Given the description of an element on the screen output the (x, y) to click on. 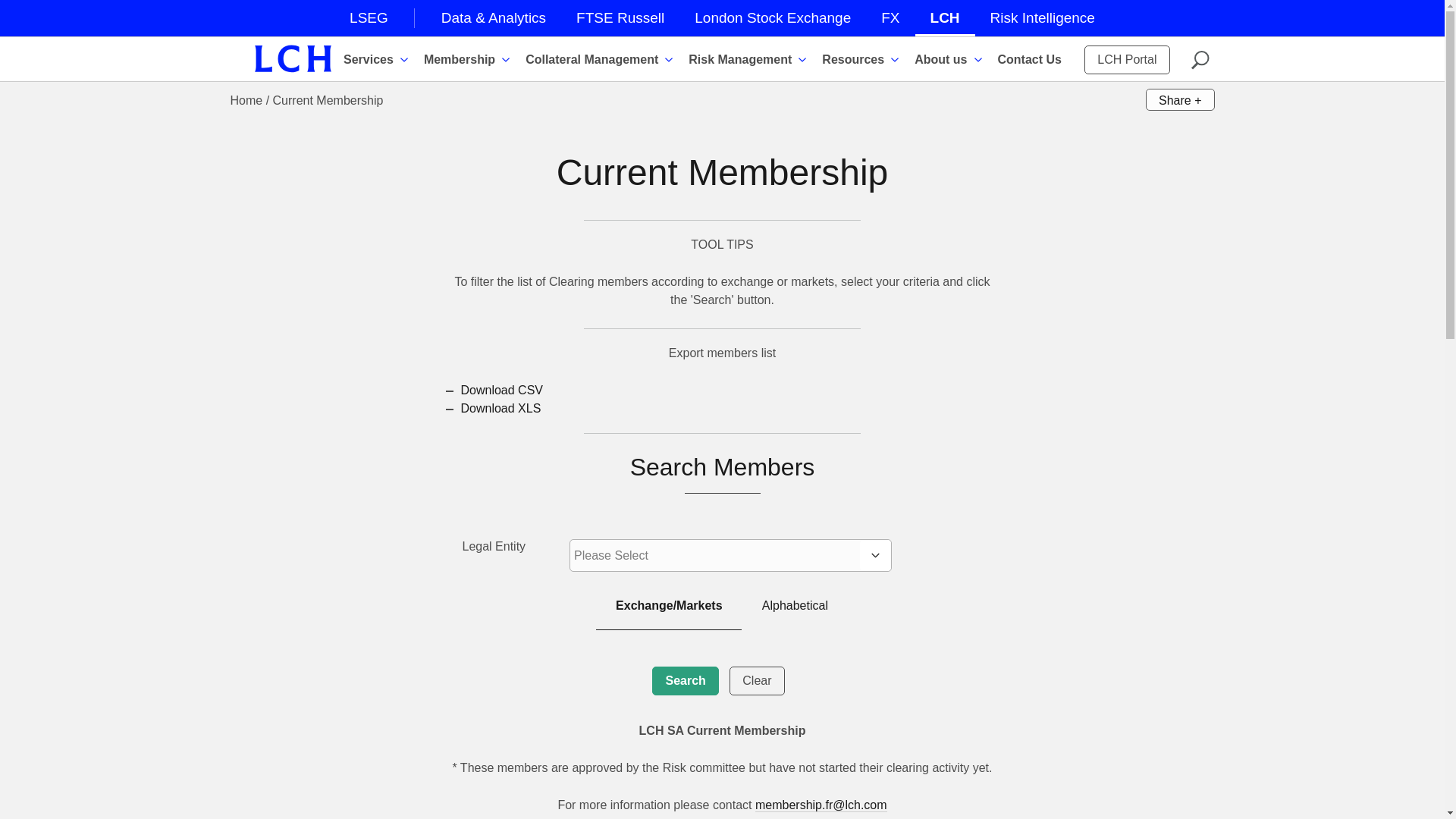
Search (684, 680)
Clear (756, 680)
Home (293, 58)
